Given the description of an element on the screen output the (x, y) to click on. 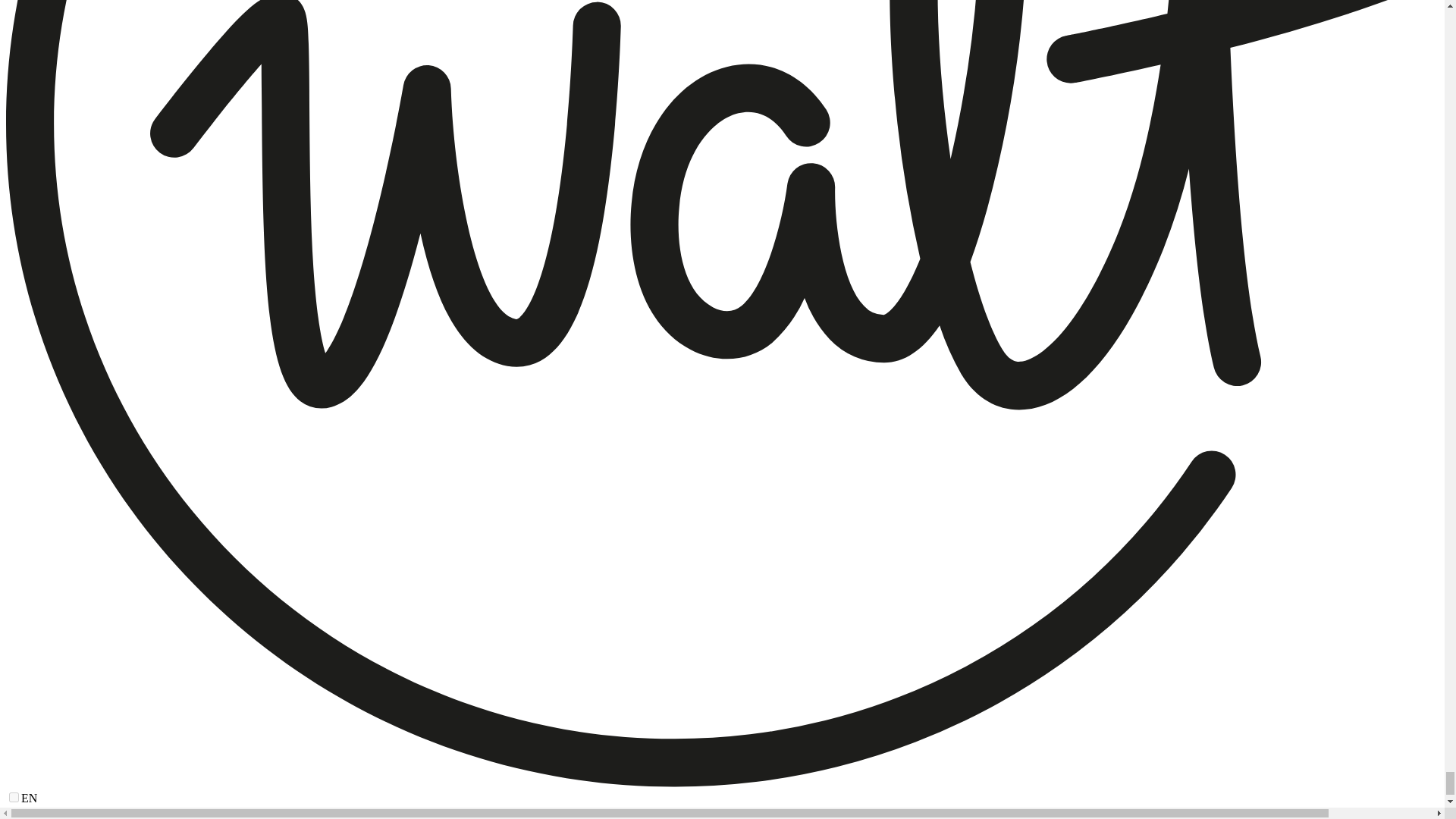
on (13, 797)
